Given the description of an element on the screen output the (x, y) to click on. 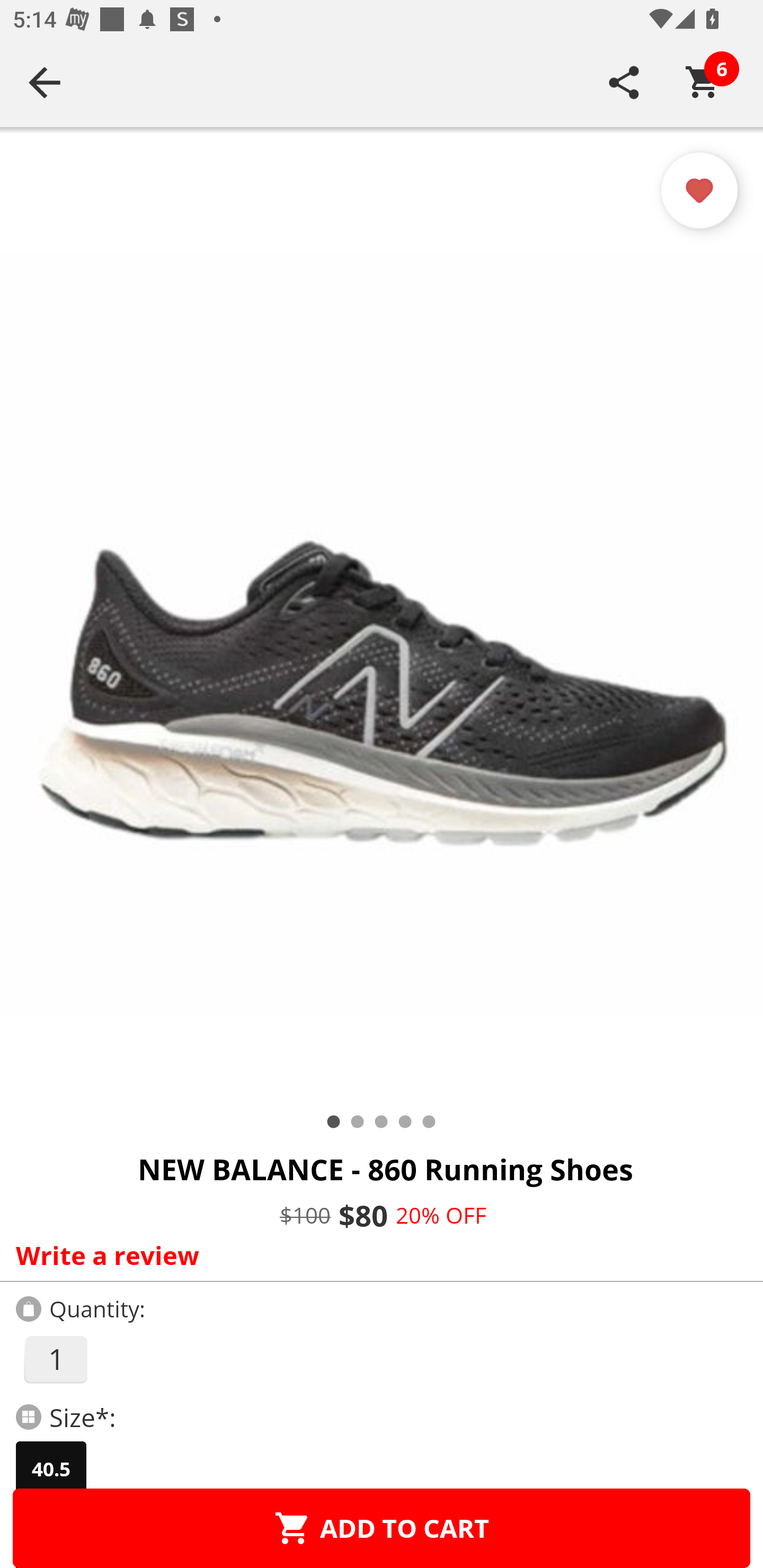
Navigate up (44, 82)
SHARE (623, 82)
Cart (703, 81)
Write a review (377, 1255)
1 (55, 1358)
40.5 (51, 1468)
ADD TO CART (381, 1528)
